Given the description of an element on the screen output the (x, y) to click on. 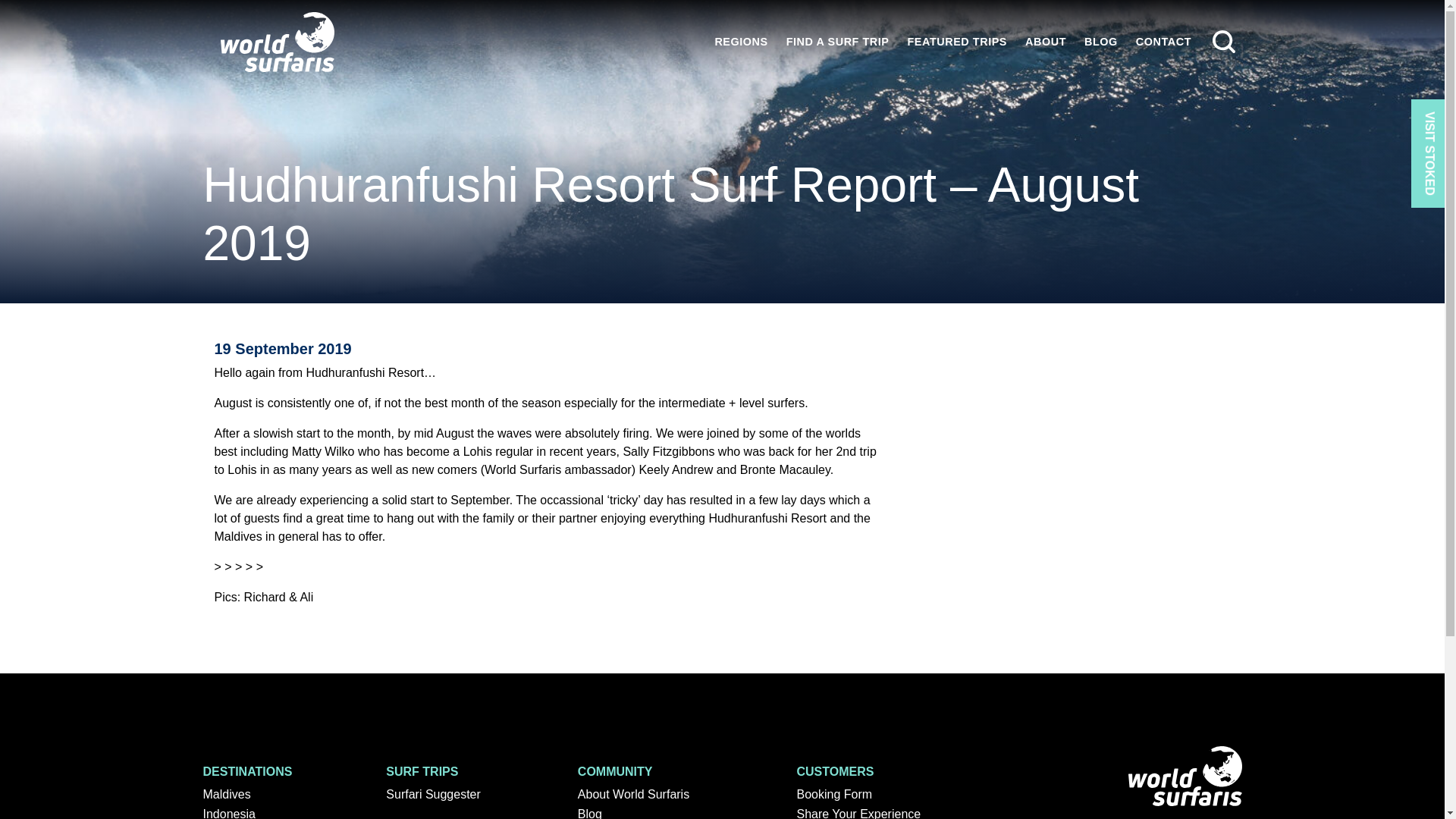
REGIONS (740, 41)
FIND A SURF TRIP (837, 41)
World Surfaris (277, 42)
FEATURED TRIPS (957, 41)
